Given the description of an element on the screen output the (x, y) to click on. 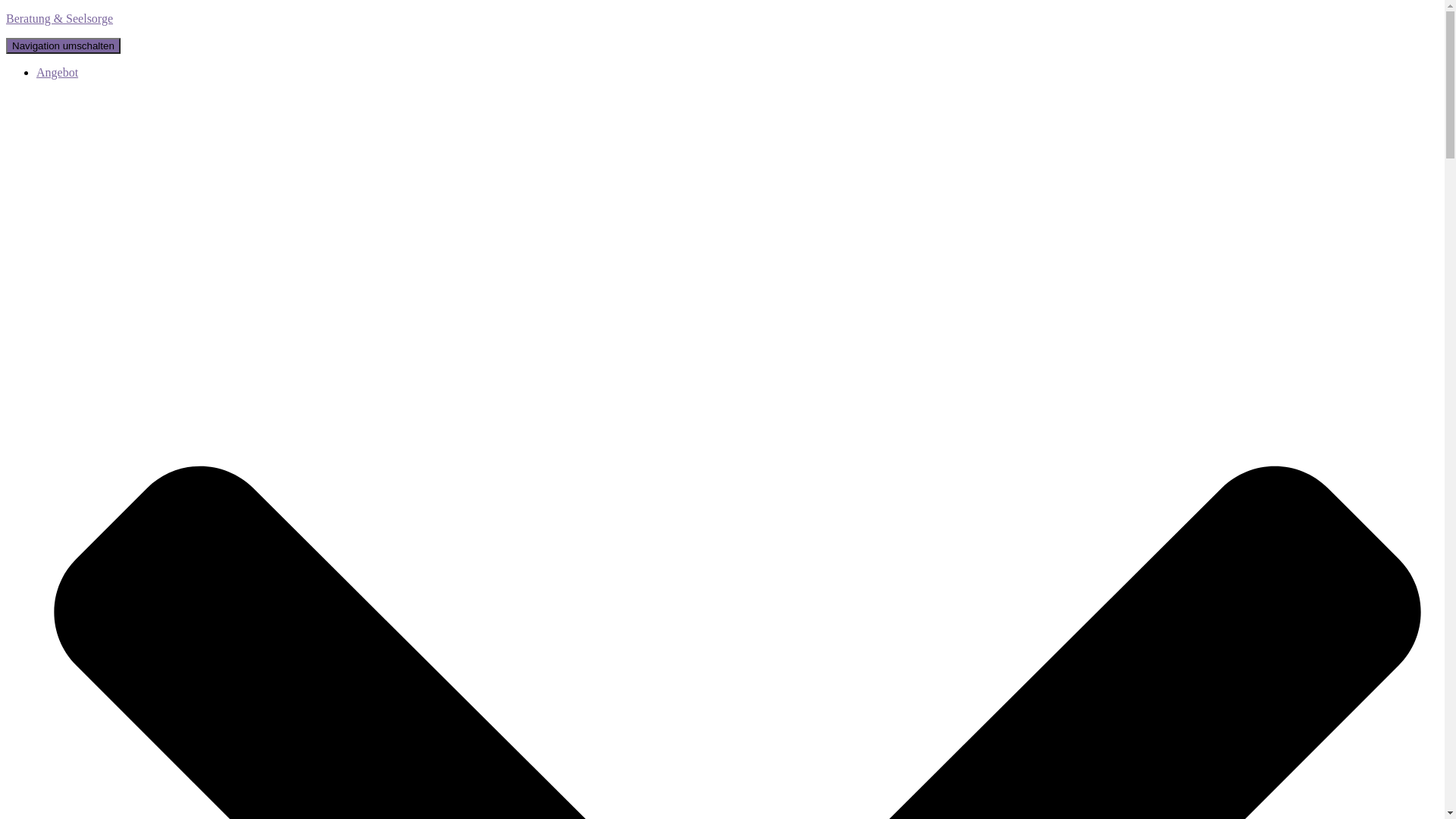
Beratung & Seelsorge Element type: text (722, 18)
Navigation umschalten Element type: text (63, 45)
